Given the description of an element on the screen output the (x, y) to click on. 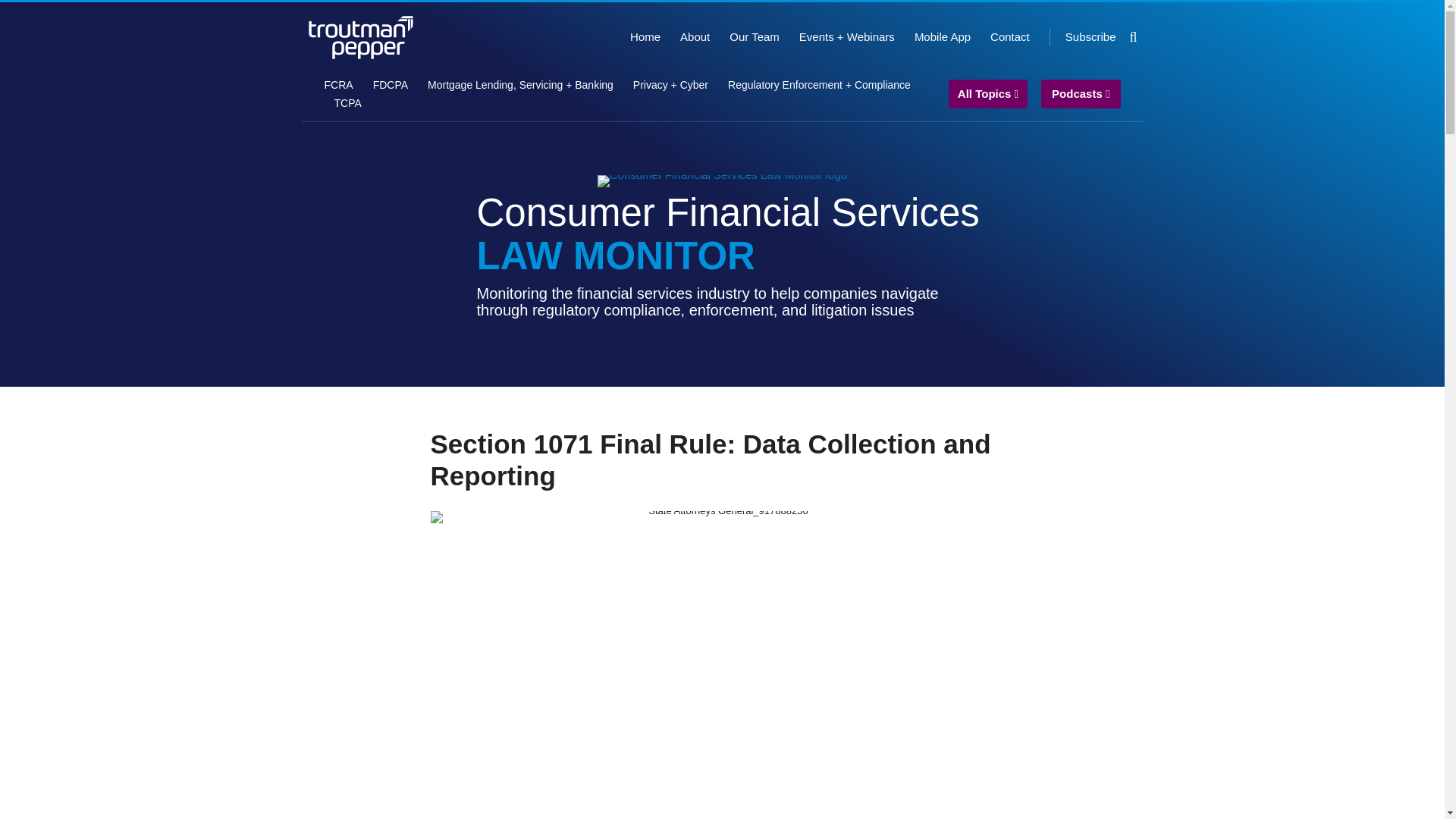
Podcasts (1081, 93)
FCRA (338, 85)
Subscribe (1090, 36)
Contact (1009, 36)
Consumer Financial Services LAW MONITOR (728, 233)
Our Team (753, 36)
